Given the description of an element on the screen output the (x, y) to click on. 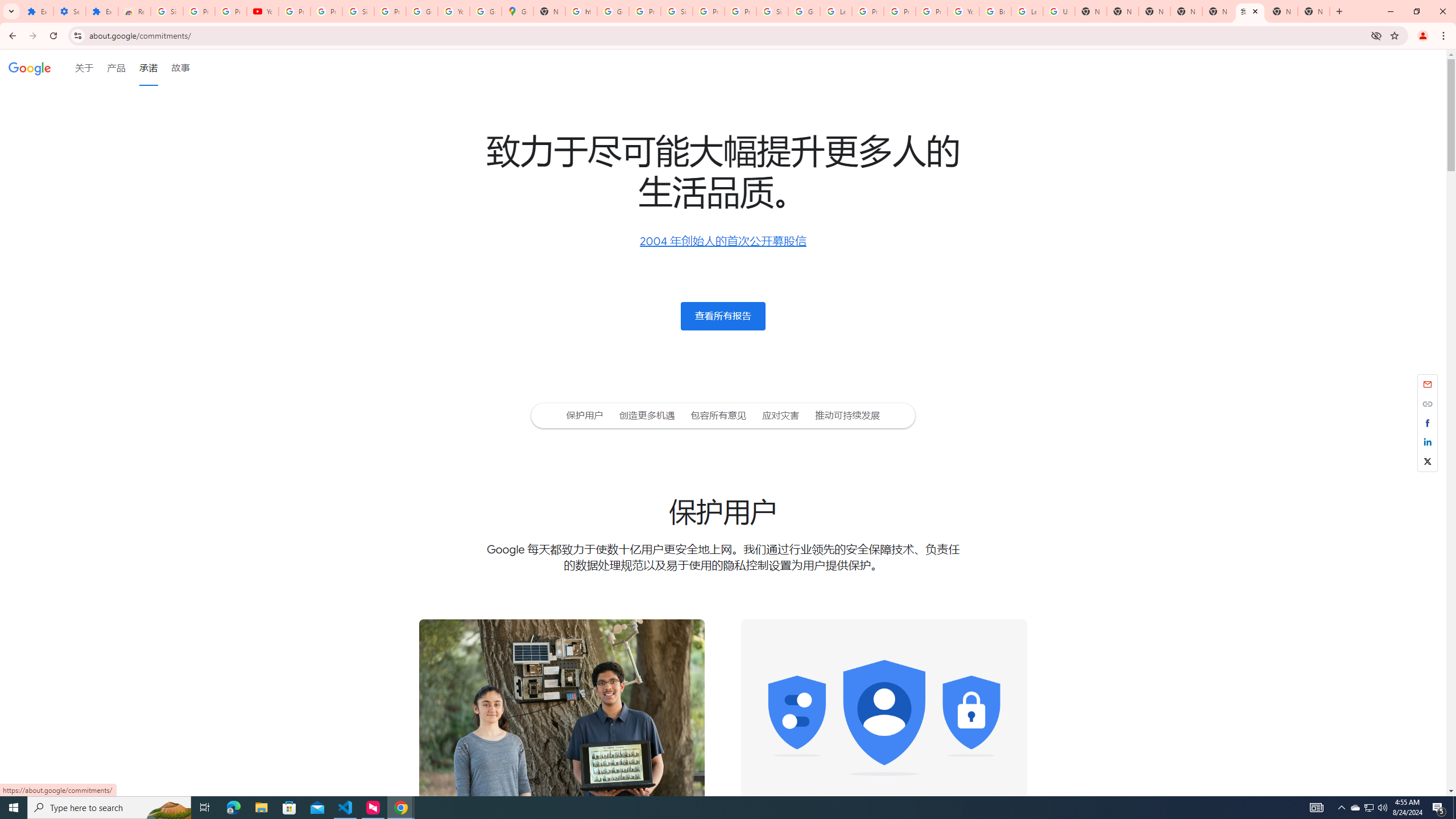
New Tab (1313, 11)
Extensions (101, 11)
Reviews: Helix Fruit Jump Arcade Game (134, 11)
YouTube (963, 11)
